Given the description of an element on the screen output the (x, y) to click on. 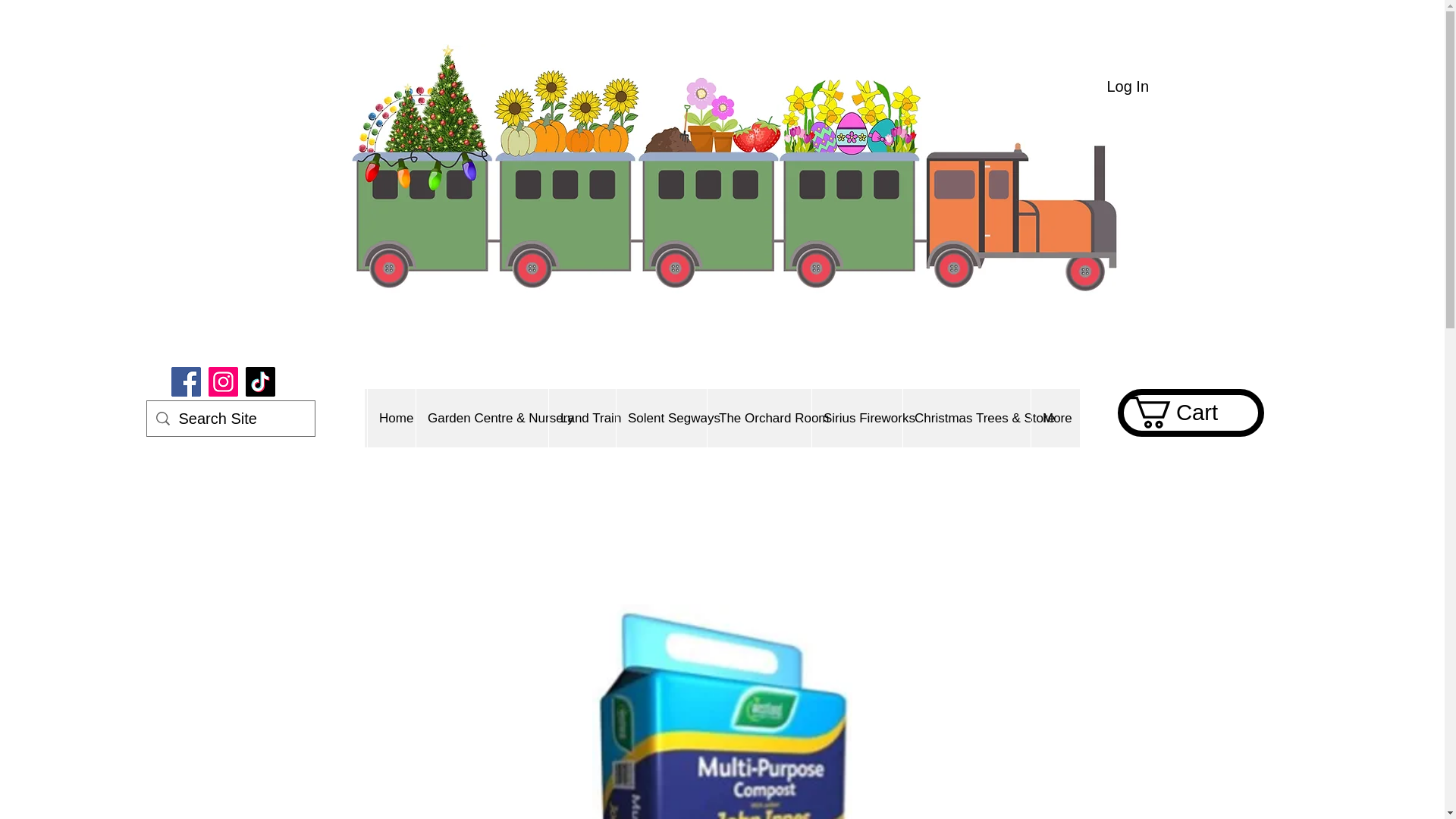
The Orchard Room (758, 418)
Land Train (581, 418)
Log In (1127, 86)
Solent Segways (660, 418)
Cart (1189, 412)
Sirius Fireworks (856, 418)
Cart (1189, 412)
